Given the description of an element on the screen output the (x, y) to click on. 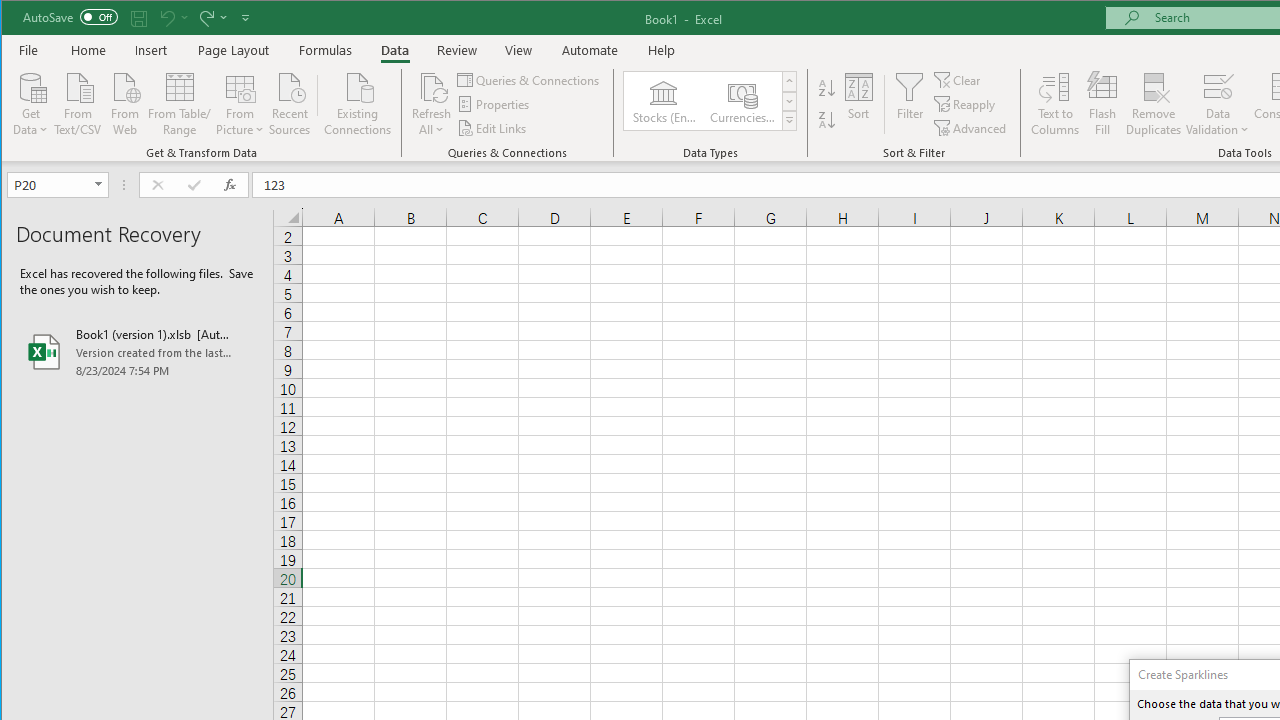
Text to Columns... (1055, 104)
Advanced... (971, 127)
From Table/Range (179, 101)
Edit Links (493, 127)
